Given the description of an element on the screen output the (x, y) to click on. 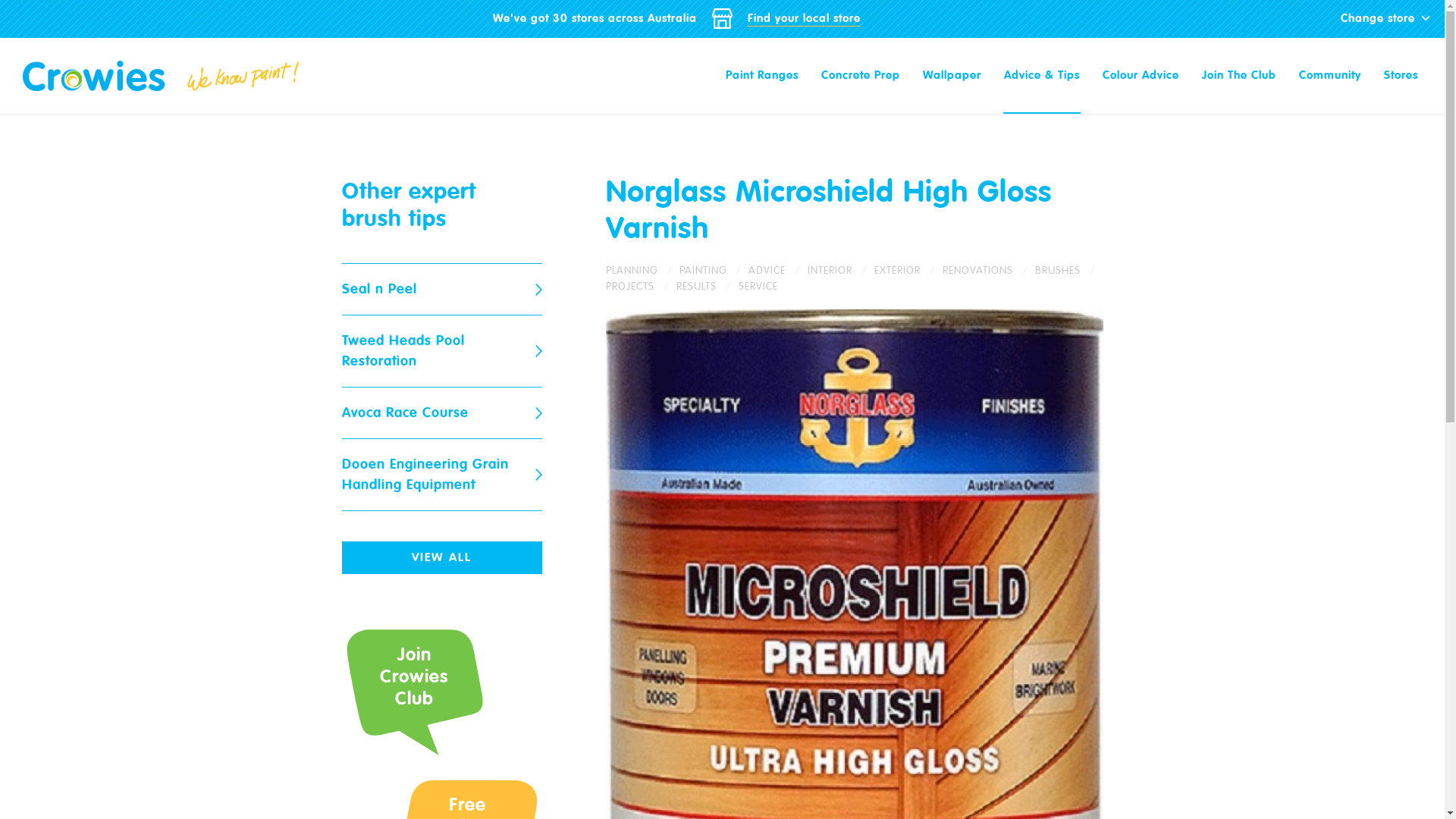
Stores Element type: text (1400, 75)
PLANNING Element type: text (641, 269)
Community Element type: text (1329, 75)
VIEW ALL Element type: text (441, 557)
Tweed Heads Pool Restoration Element type: text (441, 351)
EXTERIOR Element type: text (907, 269)
Paint Ranges Element type: text (761, 75)
ADVICE Element type: text (776, 269)
Avoca Race Course Element type: text (441, 413)
Advice & Tips Element type: text (1041, 75)
RESULTS Element type: text (707, 285)
Concrete Prep Element type: text (860, 75)
Join
Crowies
Club Element type: text (413, 687)
We've got 30 stores across Australia Element type: text (594, 18)
Join The Club Element type: text (1238, 75)
PROJECTS Element type: text (640, 285)
Send Element type: text (515, 607)
Seal n Peel Element type: text (441, 289)
INTERIOR Element type: text (839, 269)
Colour Advice Element type: text (1140, 75)
RENOVATIONS Element type: text (987, 269)
BRUSHES Element type: text (1066, 269)
SERVICE Element type: text (758, 285)
Dooen Engineering Grain Handling Equipment Element type: text (441, 475)
PAINTING Element type: text (713, 269)
Wallpaper Element type: text (951, 75)
Change store Element type: text (1384, 18)
Other expert
brush tips Element type: text (408, 204)
Find your local store Element type: text (803, 18)
